Given the description of an element on the screen output the (x, y) to click on. 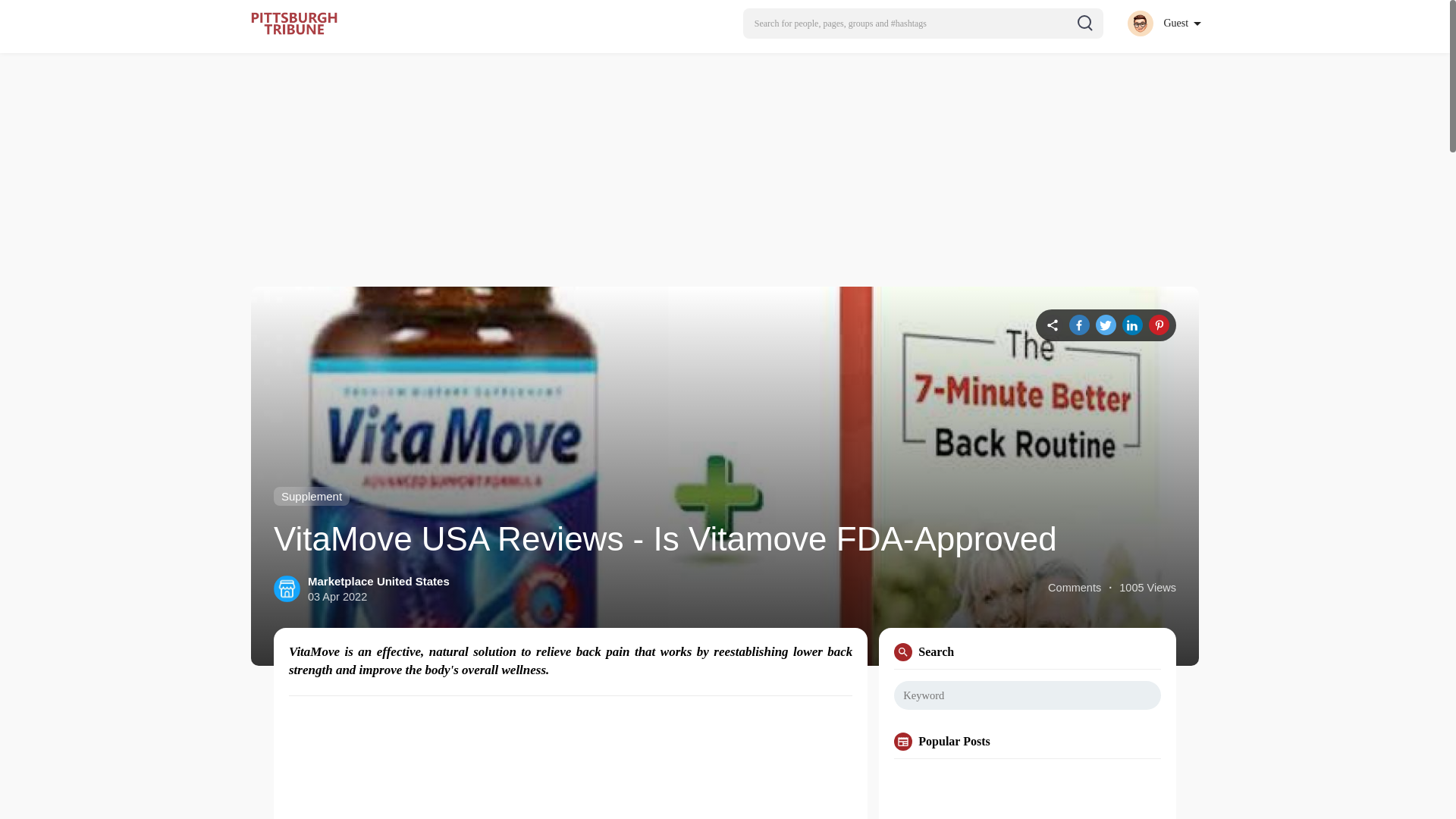
Supplement (311, 496)
Marketplace United States (378, 581)
Facebook (1078, 324)
Timeline (1052, 324)
Twitter (1106, 324)
Pinterest (1158, 324)
Comments (1074, 587)
Guest (1163, 23)
Linkedin (1132, 324)
